Given the description of an element on the screen output the (x, y) to click on. 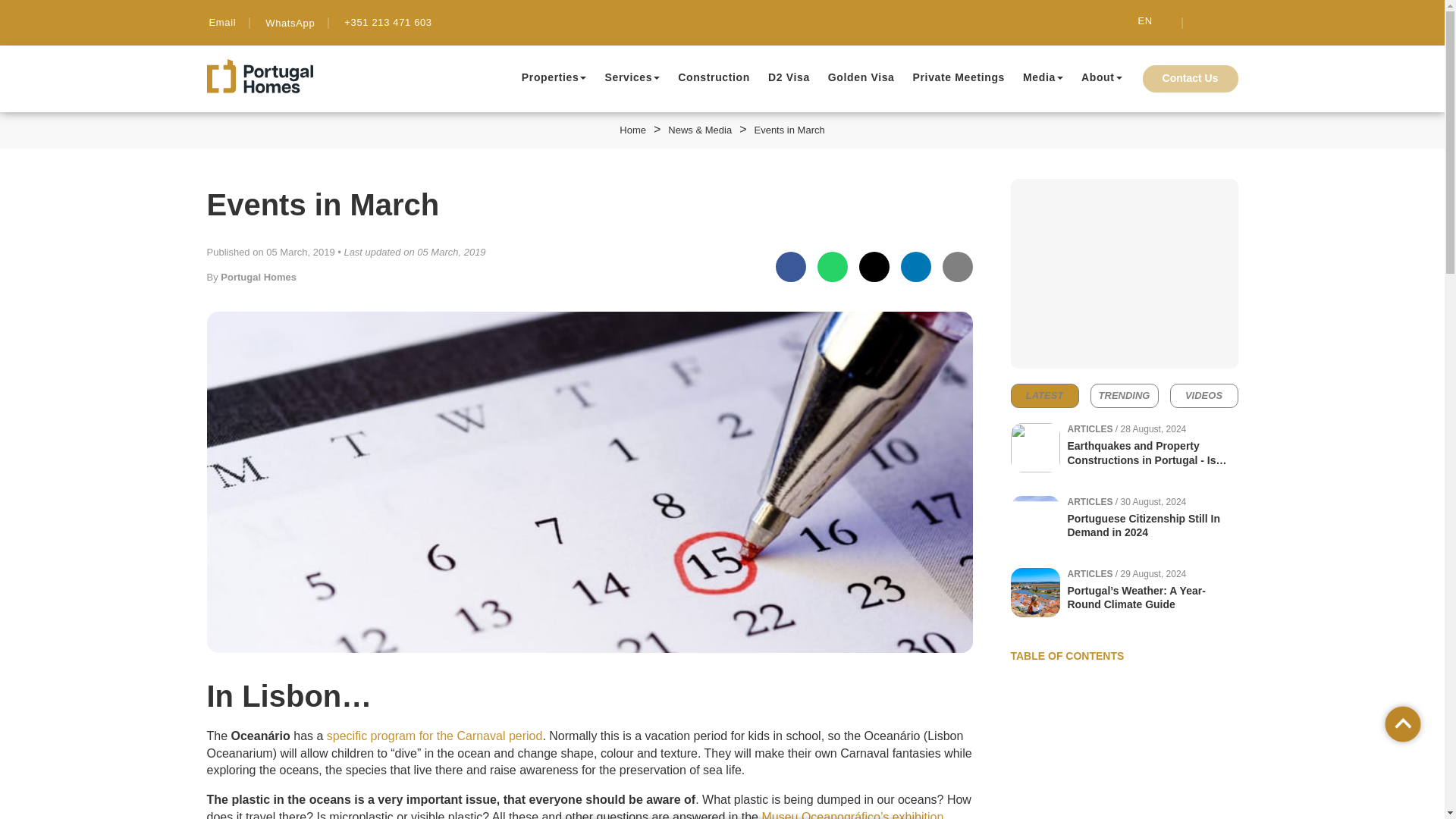
Media (1039, 77)
WhatsApp (288, 22)
Services (628, 77)
Properties (550, 77)
About (1098, 77)
Construction (713, 77)
Golden Visa (861, 77)
Email (220, 21)
D2 Visa (788, 77)
Private Meetings (959, 77)
